Given the description of an element on the screen output the (x, y) to click on. 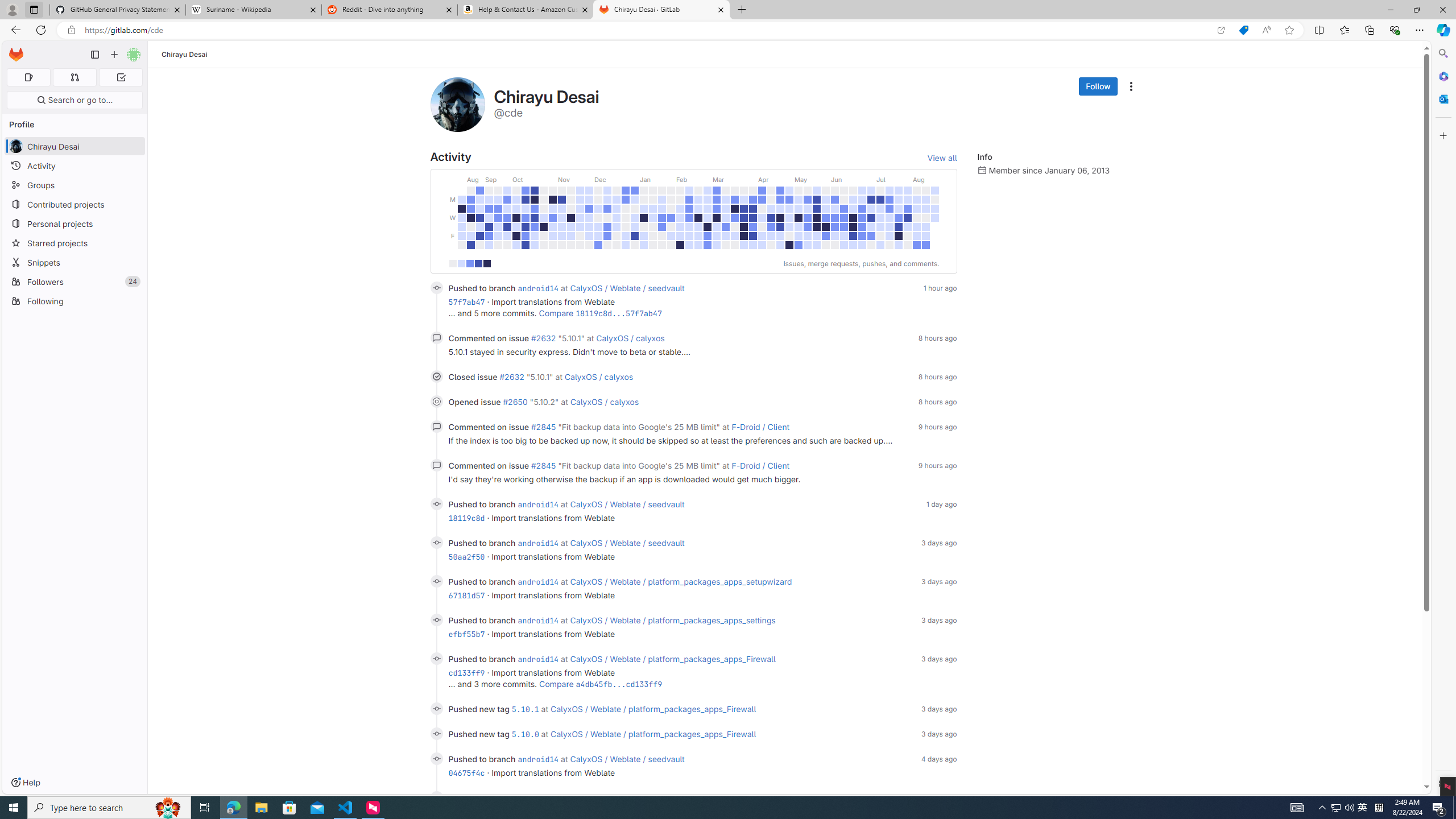
50aa2f50 (466, 556)
Homepage (16, 54)
Open in app (1220, 29)
Groups (74, 185)
